Given the description of an element on the screen output the (x, y) to click on. 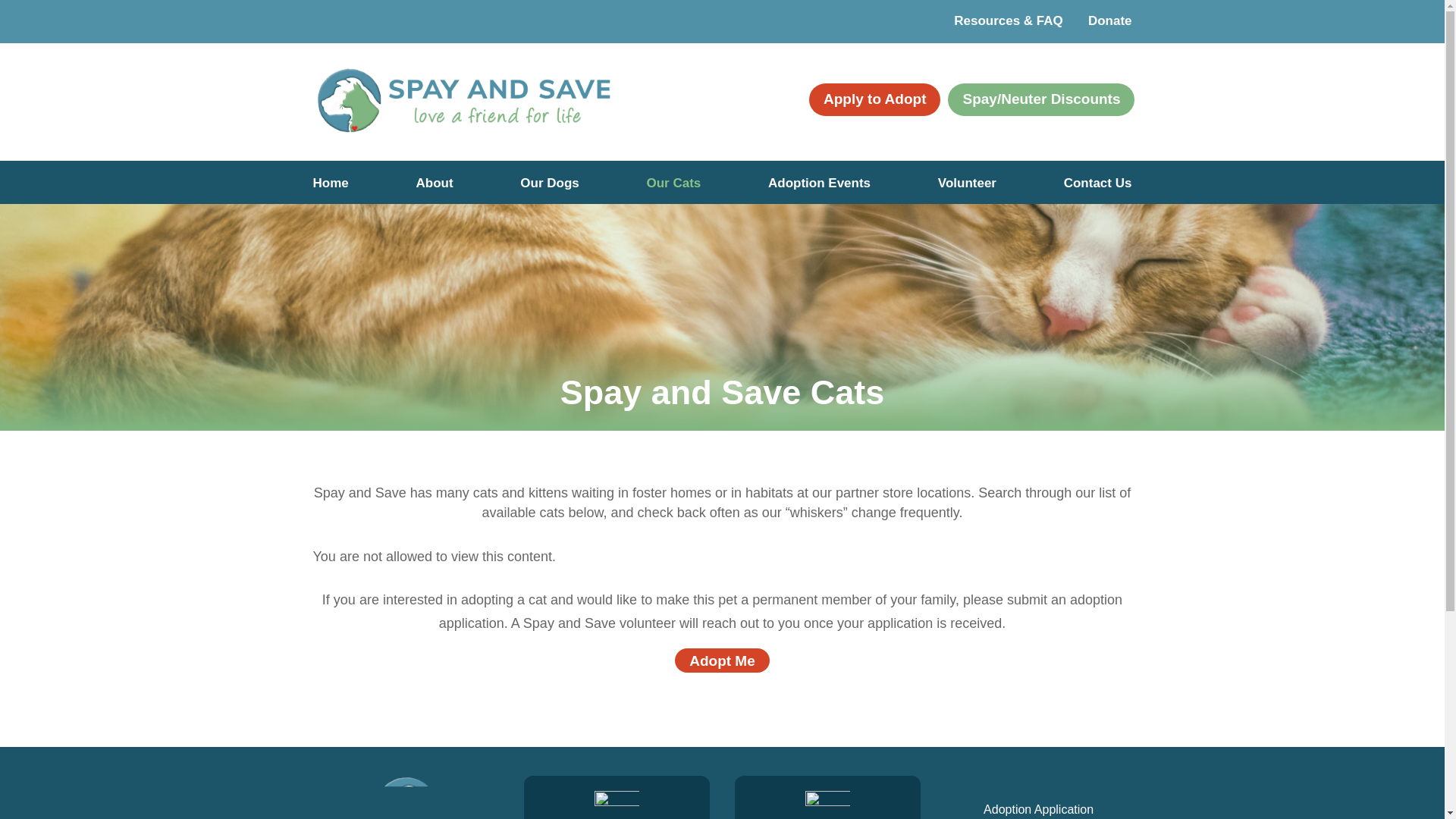
Spay-and-Save-Logo (462, 101)
Donate (1109, 20)
Adopt Me (722, 660)
Volunteer (966, 190)
Our Dogs (548, 190)
Adoption Events (819, 190)
Apply to Adopt (874, 100)
001-witch-cat-02 (827, 805)
Spay-and-Save-Logo-icon (406, 797)
Our Cats (673, 190)
